Given the description of an element on the screen output the (x, y) to click on. 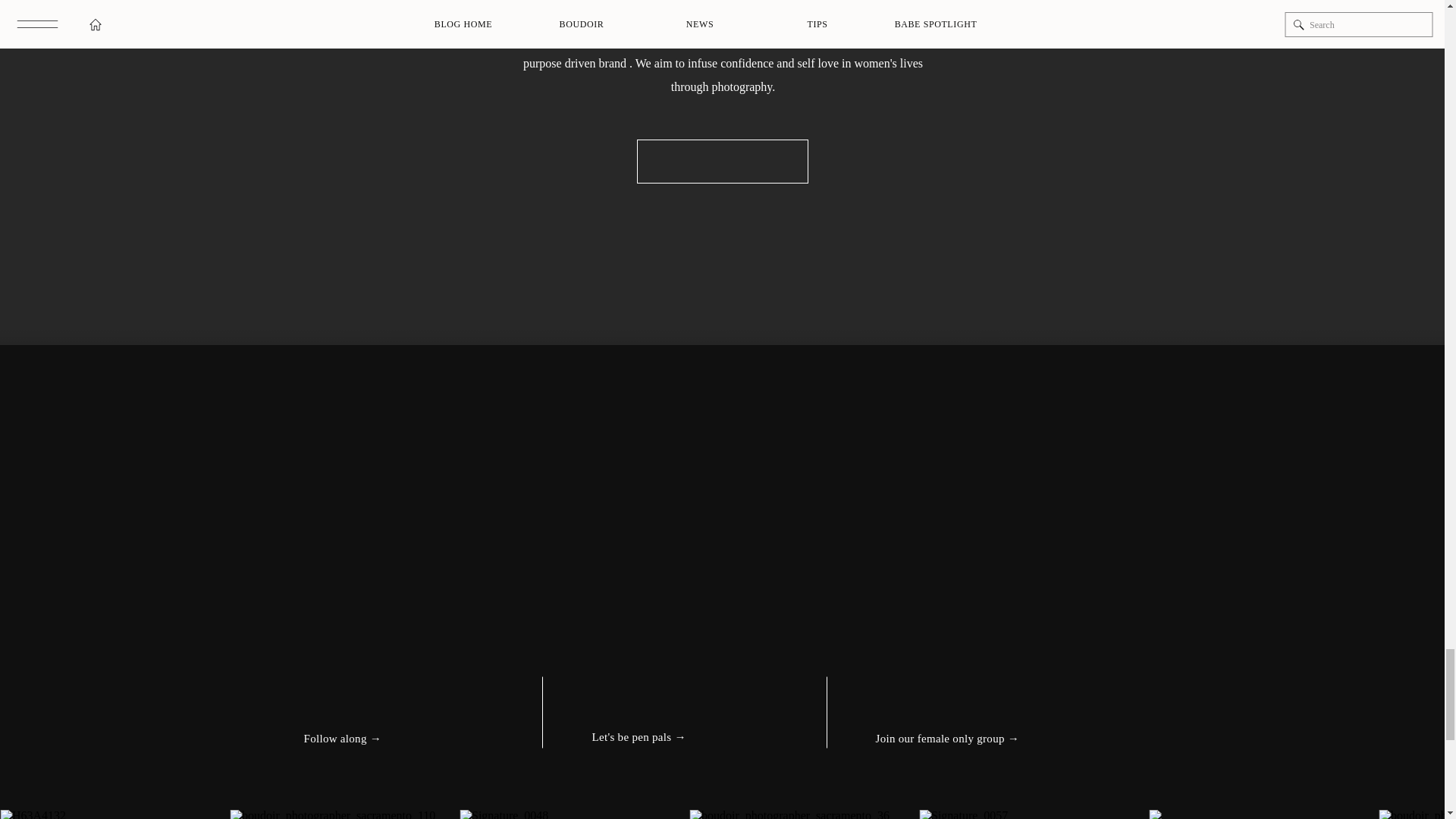
H63A4132 (115, 814)
